Given the description of an element on the screen output the (x, y) to click on. 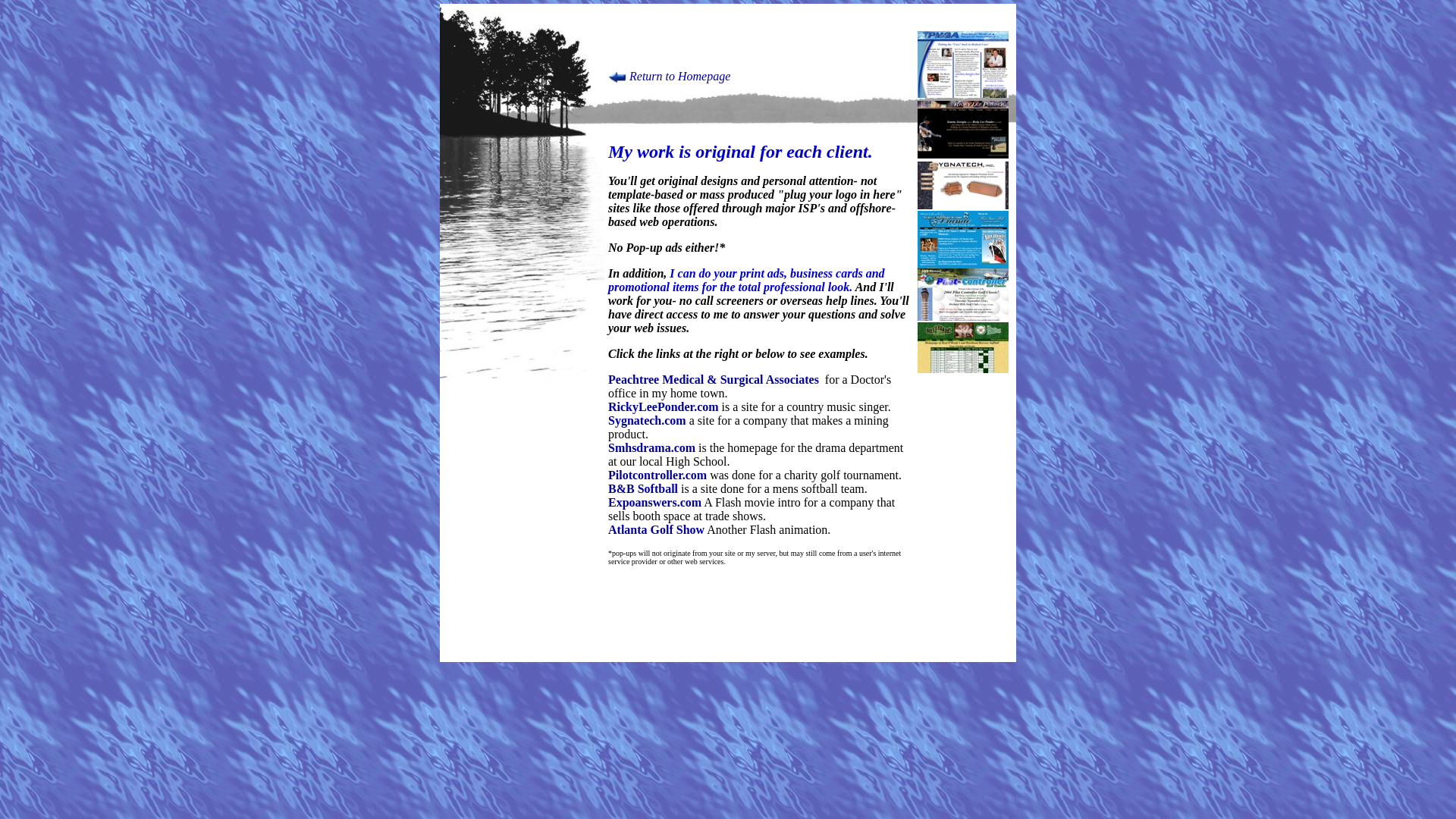
Sygnatech.com (749, 427)
Smhsdrama.com (651, 447)
Atlanta Golf Show (656, 529)
RickyLeePonder.com (663, 406)
Pilotcontroller.com (657, 474)
Return to Homepage (679, 75)
Expoanswers.com (654, 502)
